Given the description of an element on the screen output the (x, y) to click on. 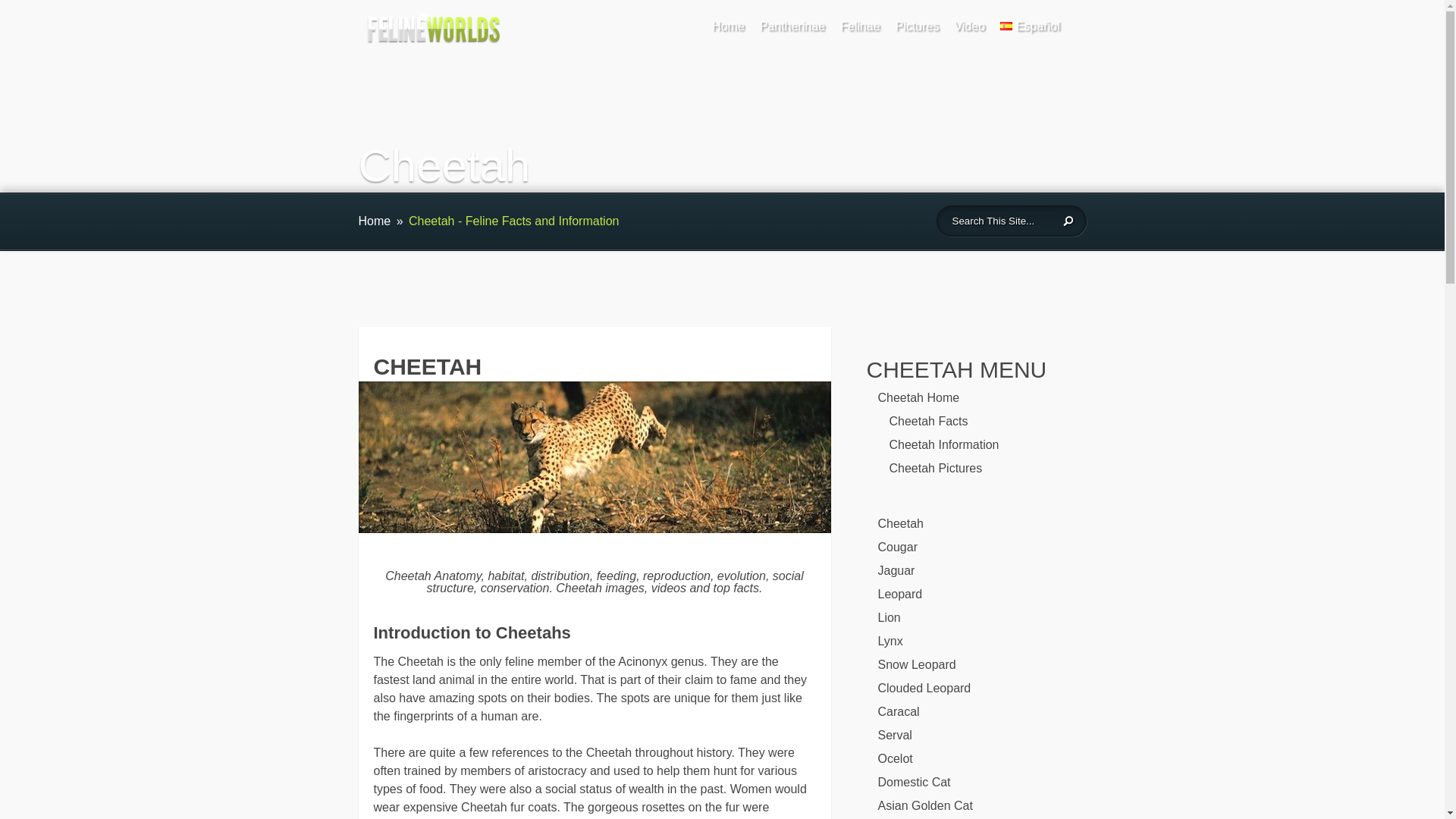
Clouded Leopard (924, 687)
Felinae (859, 29)
Cougar (897, 546)
Leopard (900, 594)
Lynx (889, 640)
Home (727, 29)
Serval (894, 735)
Search This Site... (998, 220)
Home (374, 220)
Pictures (917, 29)
Cheetah Information (943, 444)
Caracal (898, 711)
Jaguar (896, 570)
Cheetah Facts (928, 420)
Lion (889, 617)
